Given the description of an element on the screen output the (x, y) to click on. 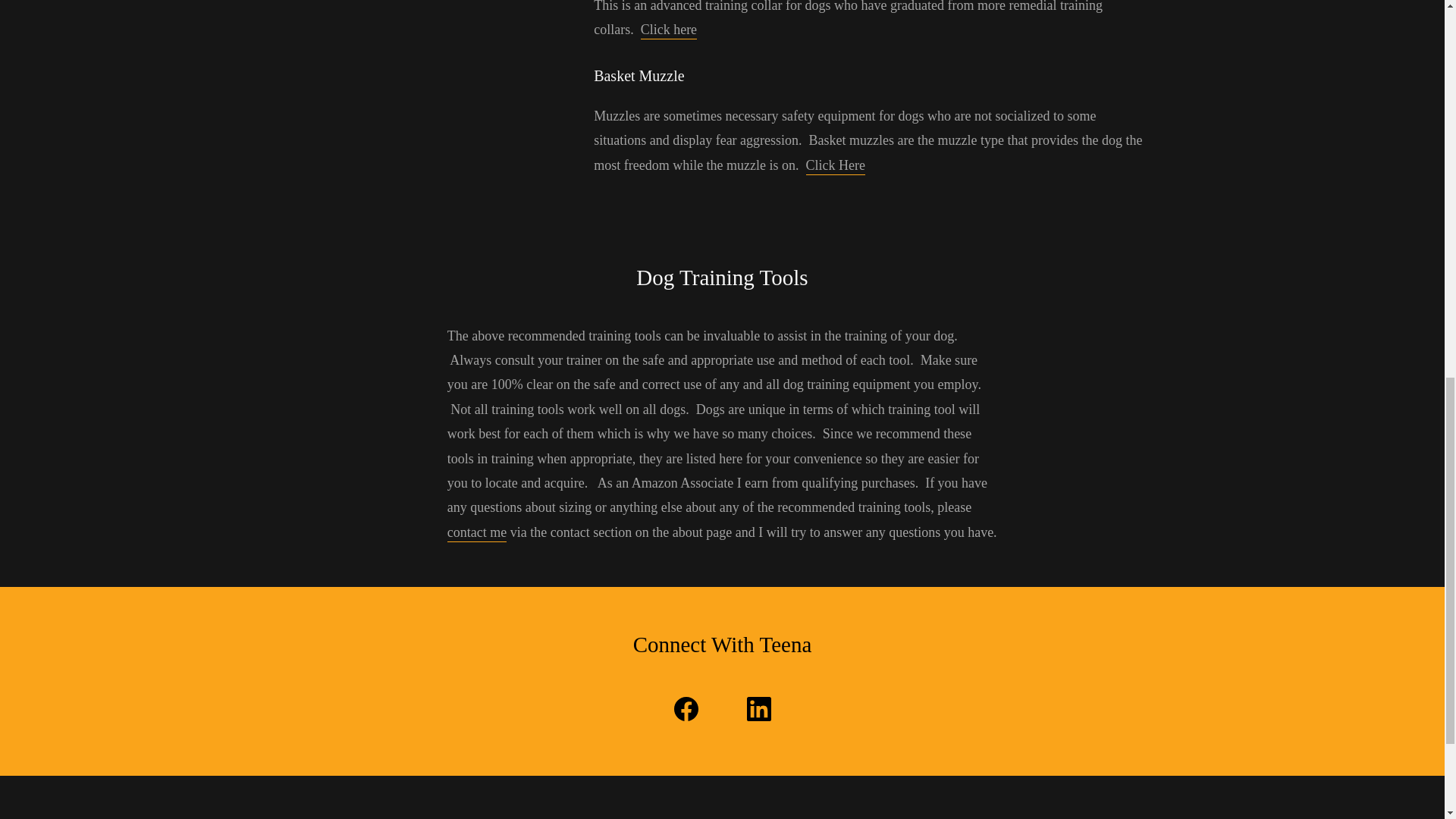
contact me (476, 533)
Click here (668, 30)
Click Here (835, 166)
